Given the description of an element on the screen output the (x, y) to click on. 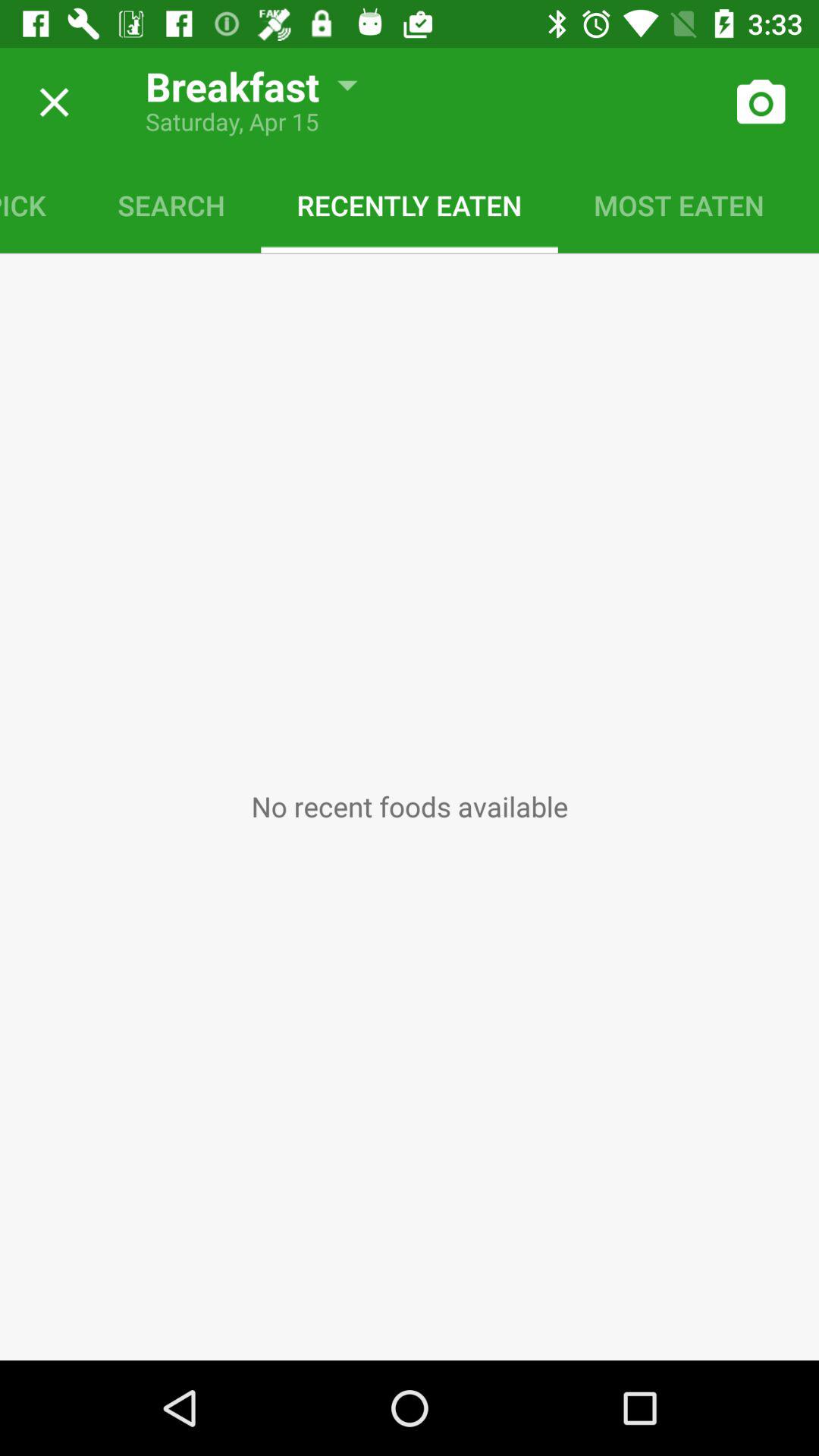
open the item above most eaten item (760, 102)
